Given the description of an element on the screen output the (x, y) to click on. 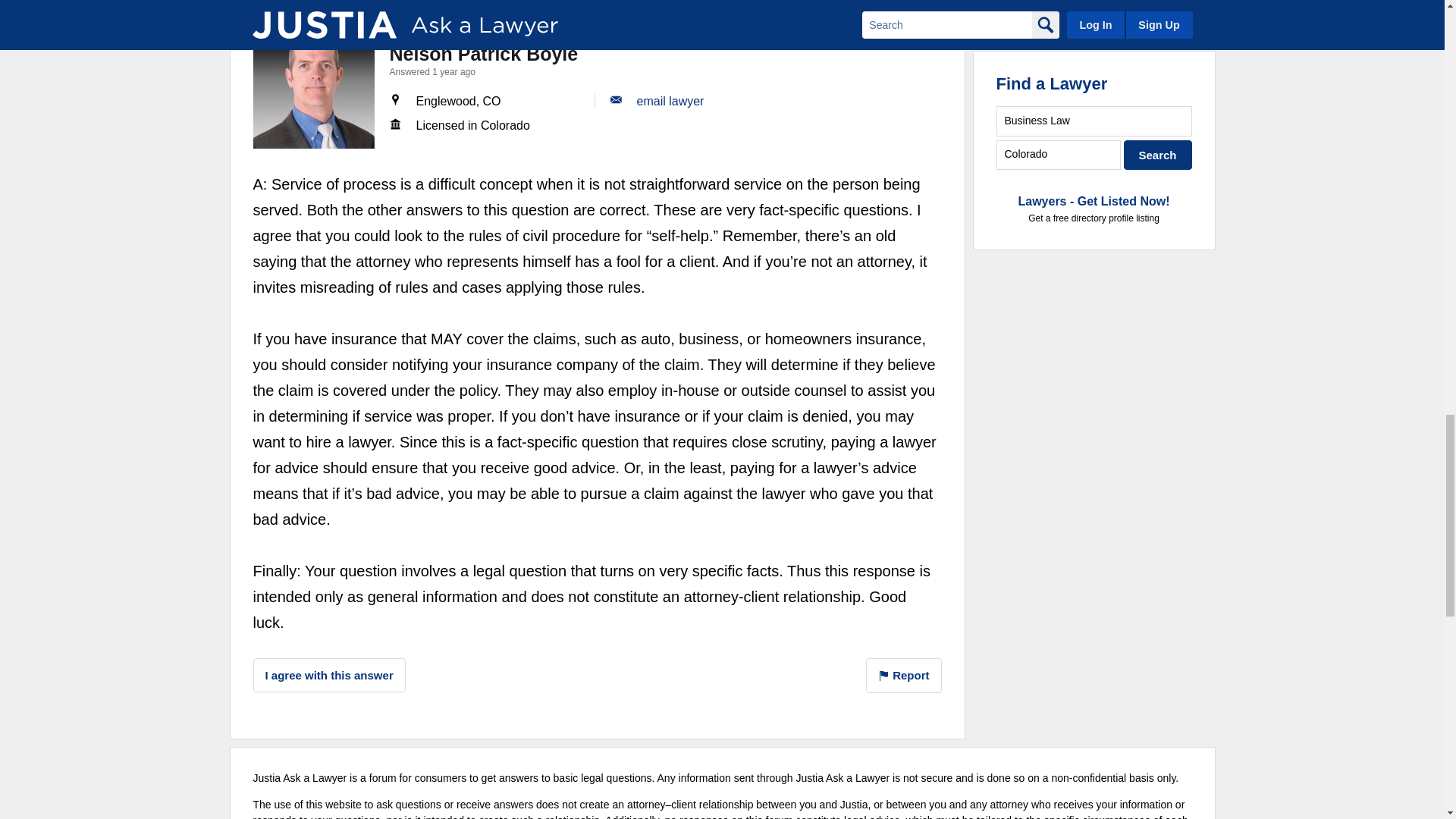
City, State (1058, 154)
Search (1158, 154)
Legal Issue or Lawyer Name (1093, 120)
Search (1158, 154)
Business Law (1093, 120)
Nelson Patrick Boyle (313, 87)
Colorado (1058, 154)
